Given the description of an element on the screen output the (x, y) to click on. 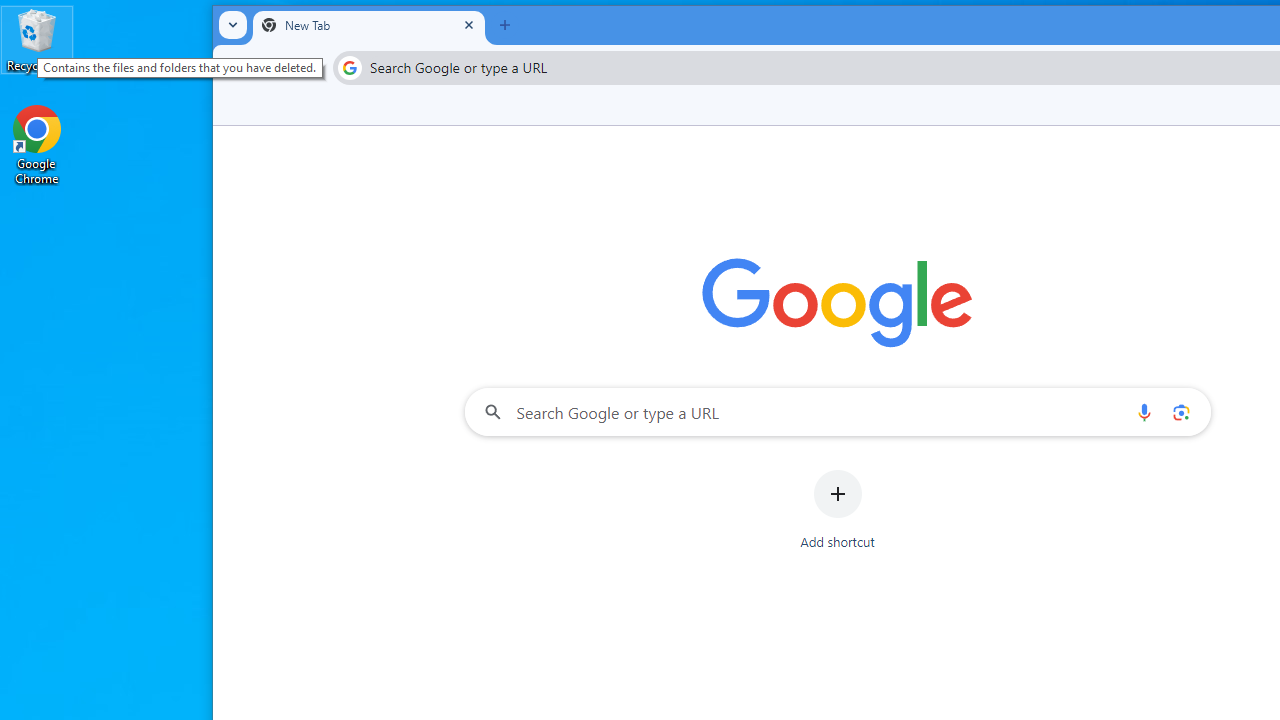
Google Chrome (37, 144)
Recycle Bin (37, 39)
